Given the description of an element on the screen output the (x, y) to click on. 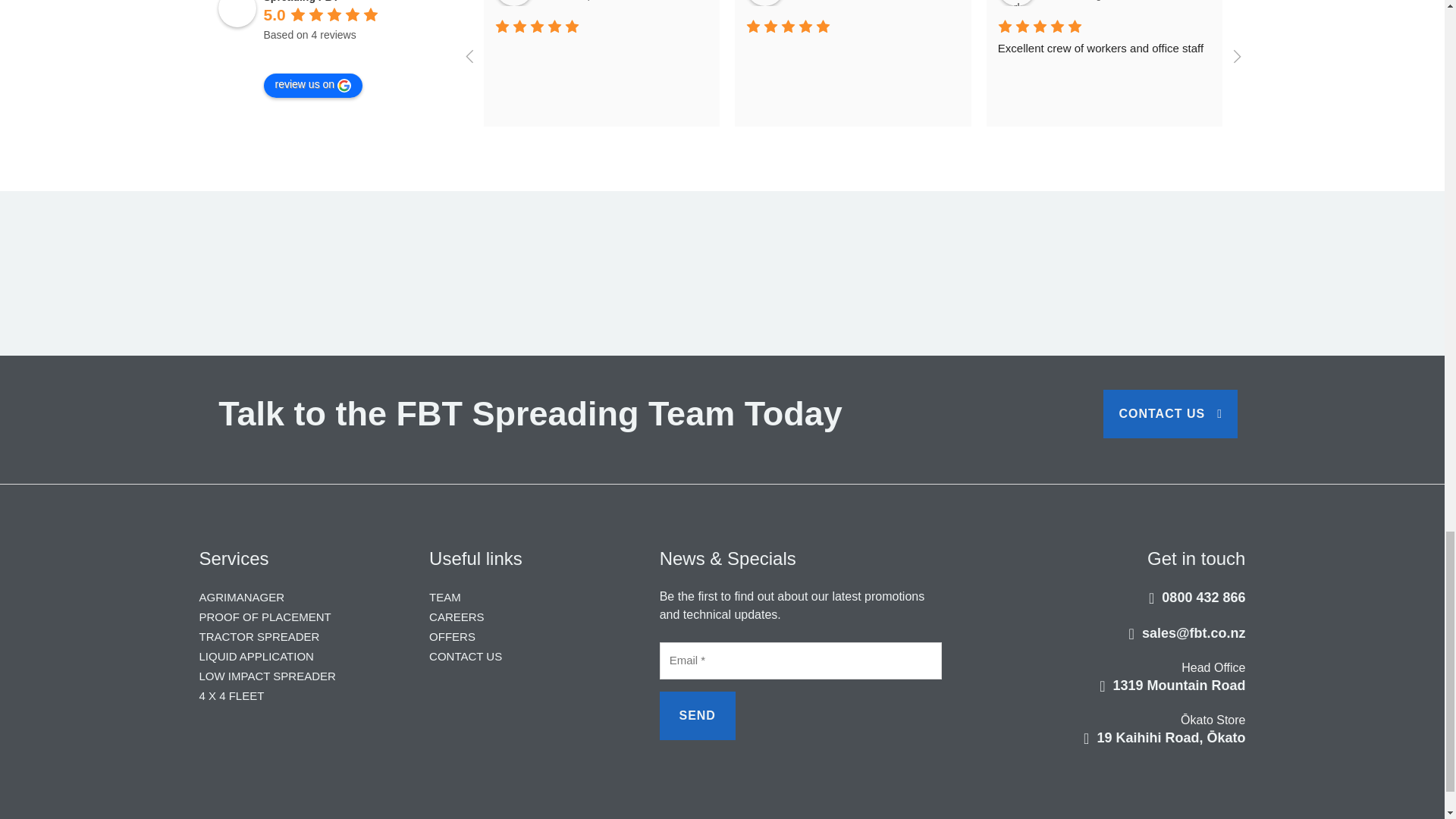
powered by Google (317, 53)
Craig D (764, 2)
Mike Goble (513, 2)
Scott Buttimore (1268, 2)
Spreading FBT (237, 13)
Roger Stark (1016, 2)
Send (697, 715)
